Given the description of an element on the screen output the (x, y) to click on. 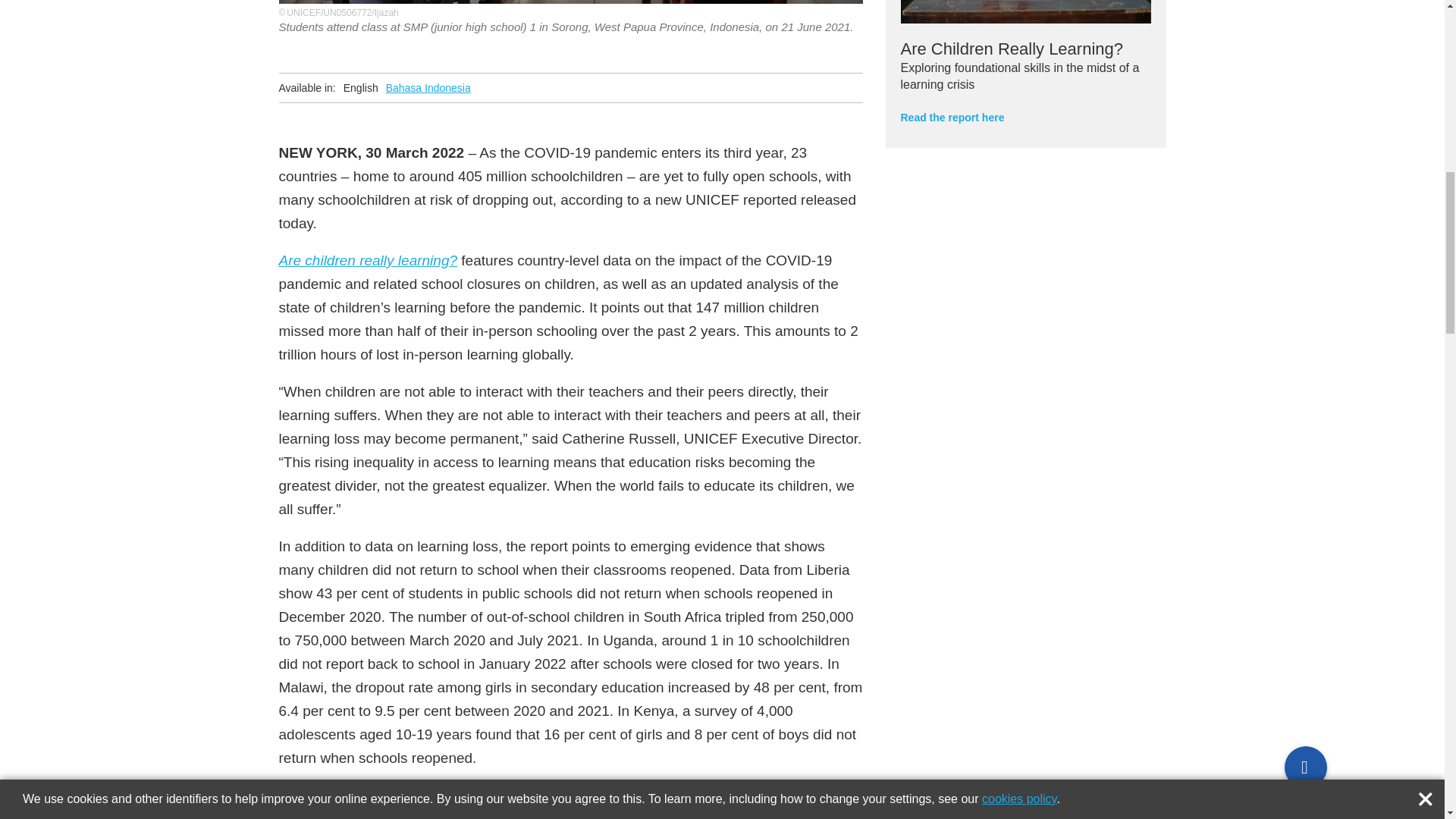
Are children really learning? (368, 260)
Read the report here (952, 117)
Bahasa Indonesia (427, 88)
